Given the description of an element on the screen output the (x, y) to click on. 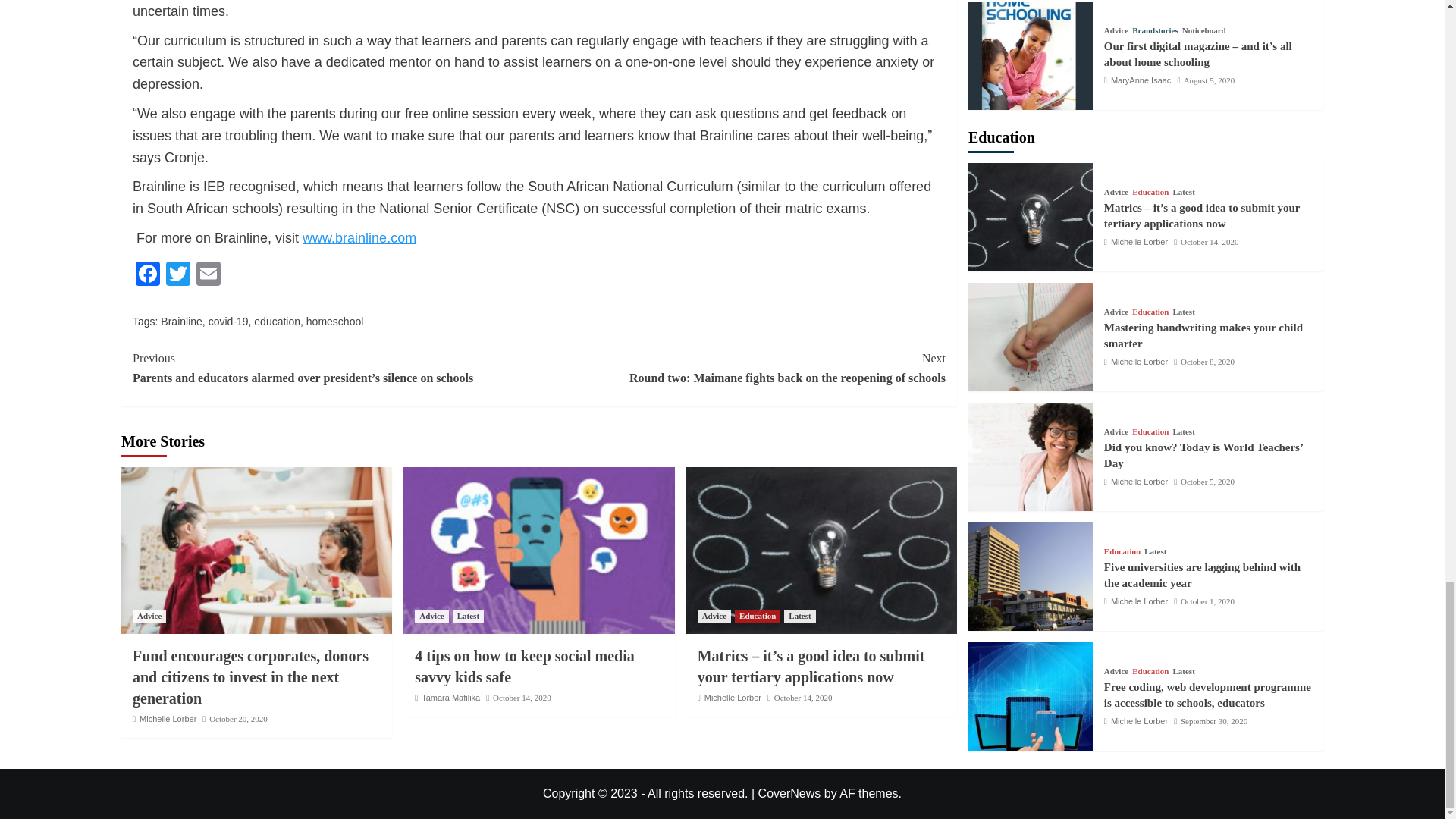
October 20, 2020 (238, 718)
Brainline (181, 321)
covid-19 (228, 321)
Email (208, 275)
homeschool (334, 321)
education (276, 321)
Email (208, 275)
Twitter (178, 275)
Facebook (147, 275)
Advice (148, 615)
www.brainline.com (359, 237)
Advice (431, 615)
Facebook (147, 275)
